Given the description of an element on the screen output the (x, y) to click on. 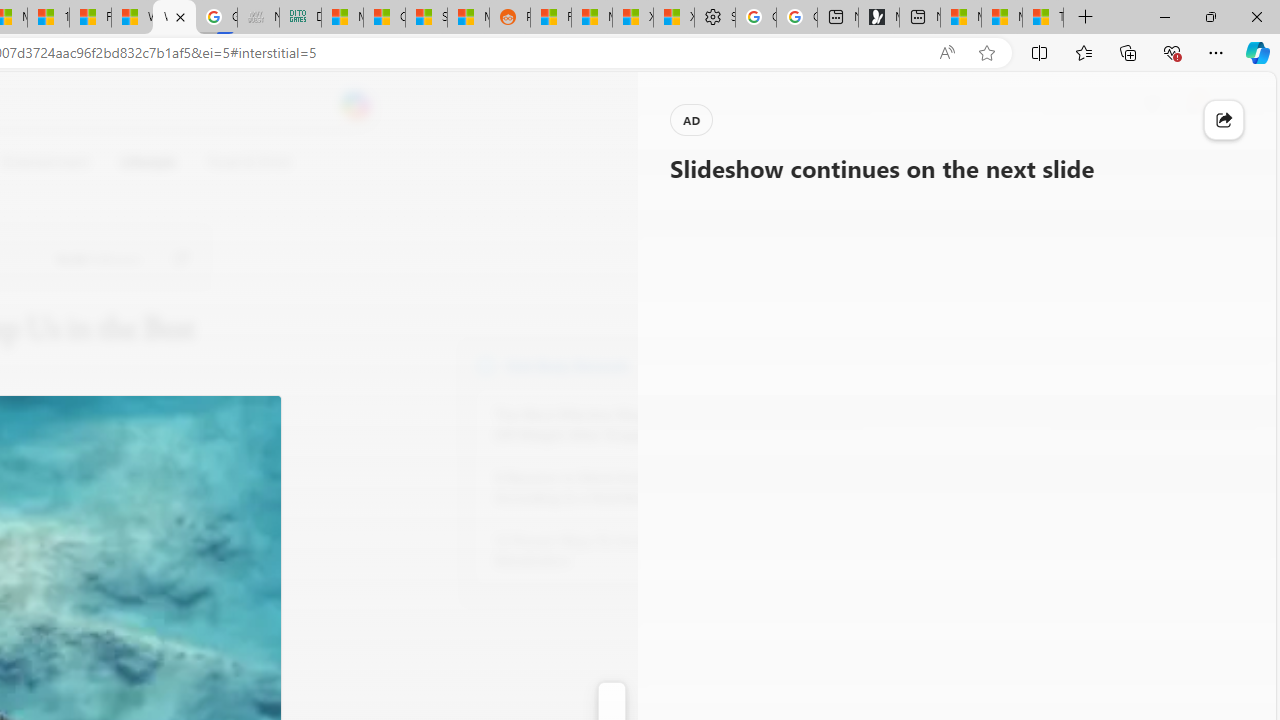
Share this story (1224, 119)
Class: at-item immersive (1224, 120)
These 3 Stocks Pay You More Than 5% to Own Them (1042, 17)
R******* | Trusted Community Engagement and Contributions (550, 17)
